Given the description of an element on the screen output the (x, y) to click on. 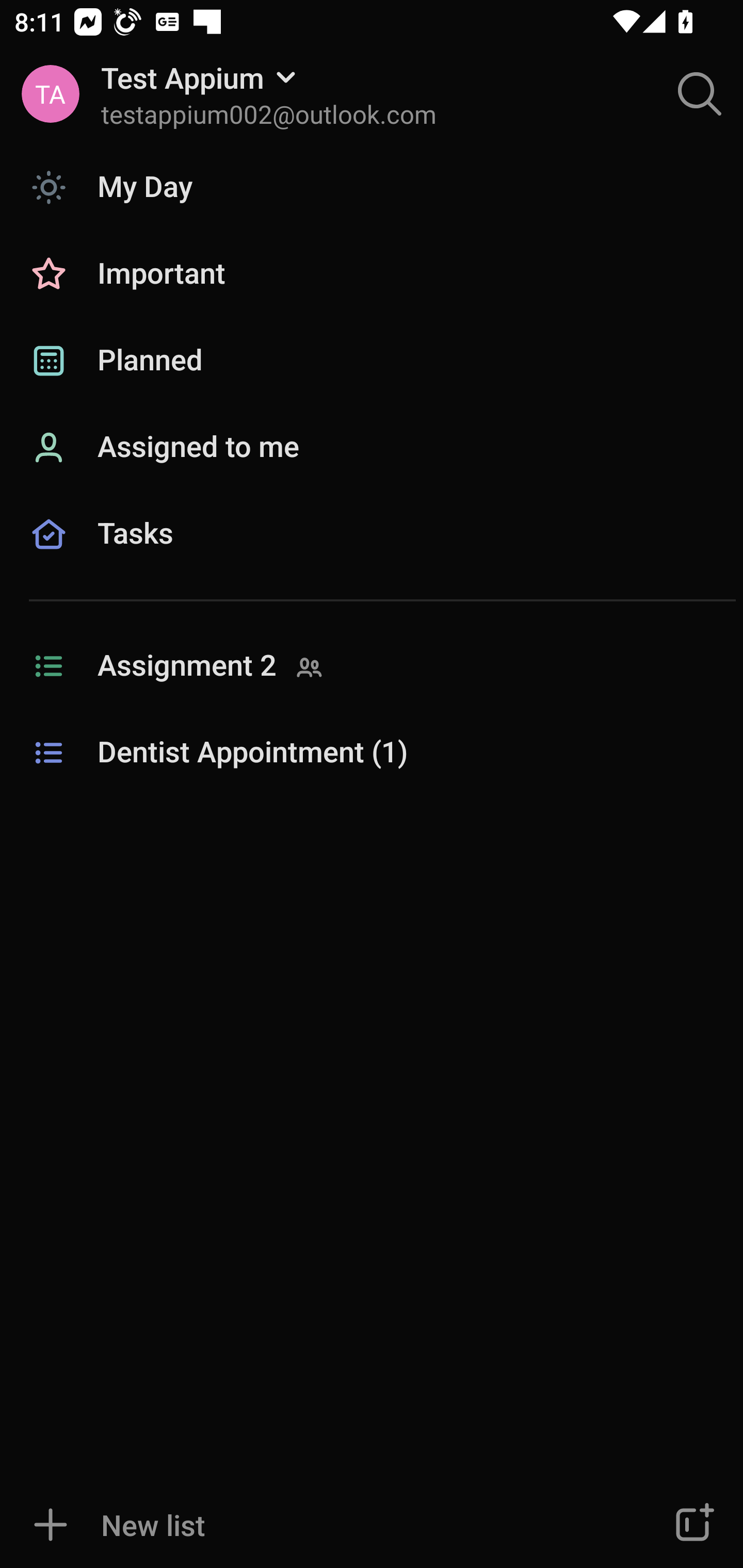
Enter search (699, 93)
My Day, 0 tasks My Day (371, 187)
Important, 0 tasks Important (371, 274)
Planned, 0 tasks Planned (371, 361)
Assigned to me, 0 tasks Assigned to me (371, 447)
Tasks (371, 556)
Shared list. Assignment 2 Assignment 2 Shared list (371, 666)
Dentist Appointment (1) (371, 753)
New list (312, 1524)
Create group (692, 1524)
